Given the description of an element on the screen output the (x, y) to click on. 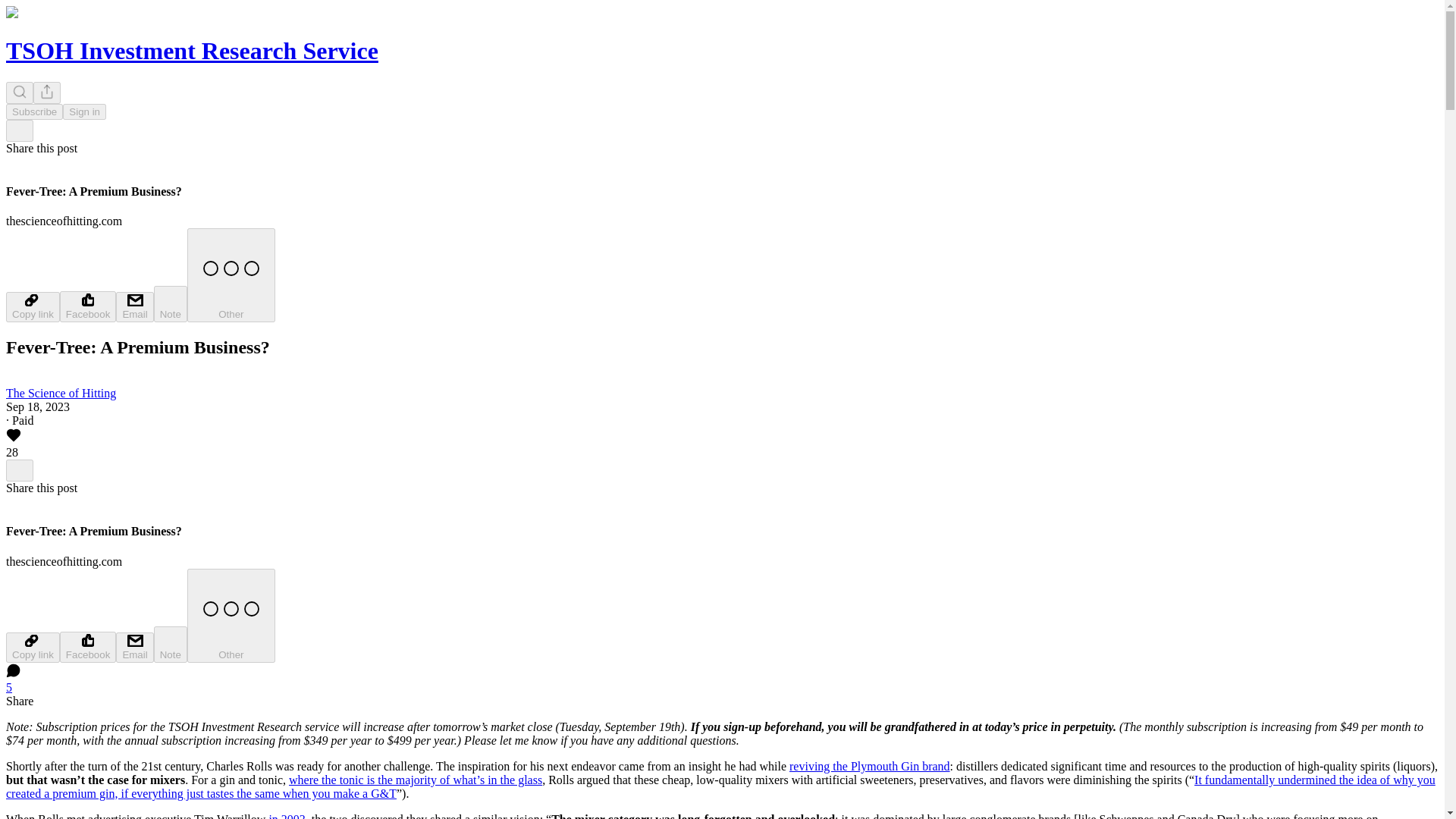
Email (134, 306)
TSOH Investment Research Service (191, 50)
Other (231, 615)
Note (170, 303)
reviving the Plymouth Gin brand (869, 766)
Copy link (32, 306)
Copy link (32, 647)
Subscribe (33, 111)
Email (134, 647)
Note (170, 644)
